Given the description of an element on the screen output the (x, y) to click on. 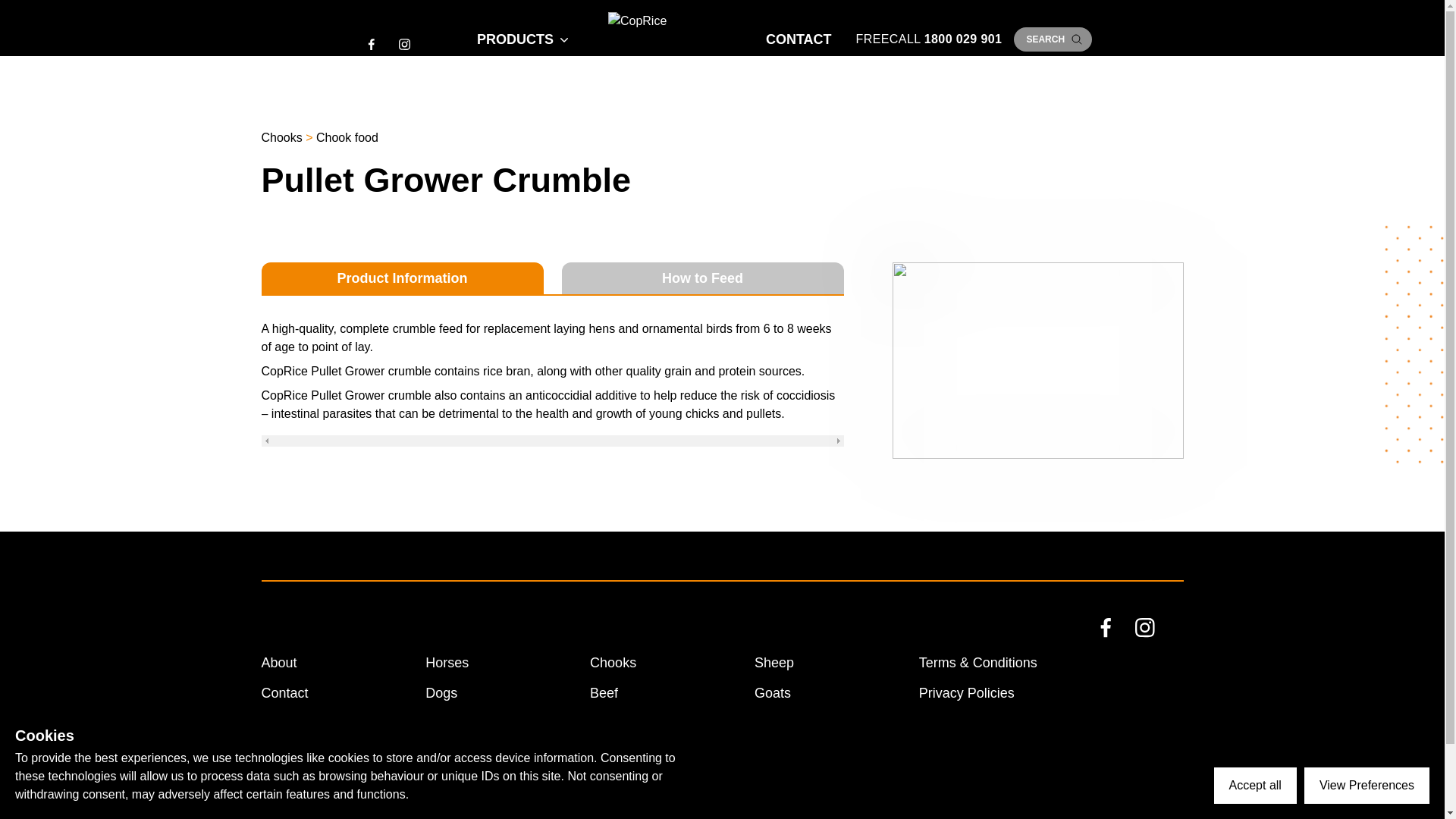
Contact (283, 693)
Sheep (773, 662)
Chooks (612, 662)
Dairy (605, 723)
Dogs (441, 693)
Copyright (947, 753)
Facebook (1118, 642)
Accept all (1255, 785)
Goats (772, 693)
Product Information (401, 278)
